Given the description of an element on the screen output the (x, y) to click on. 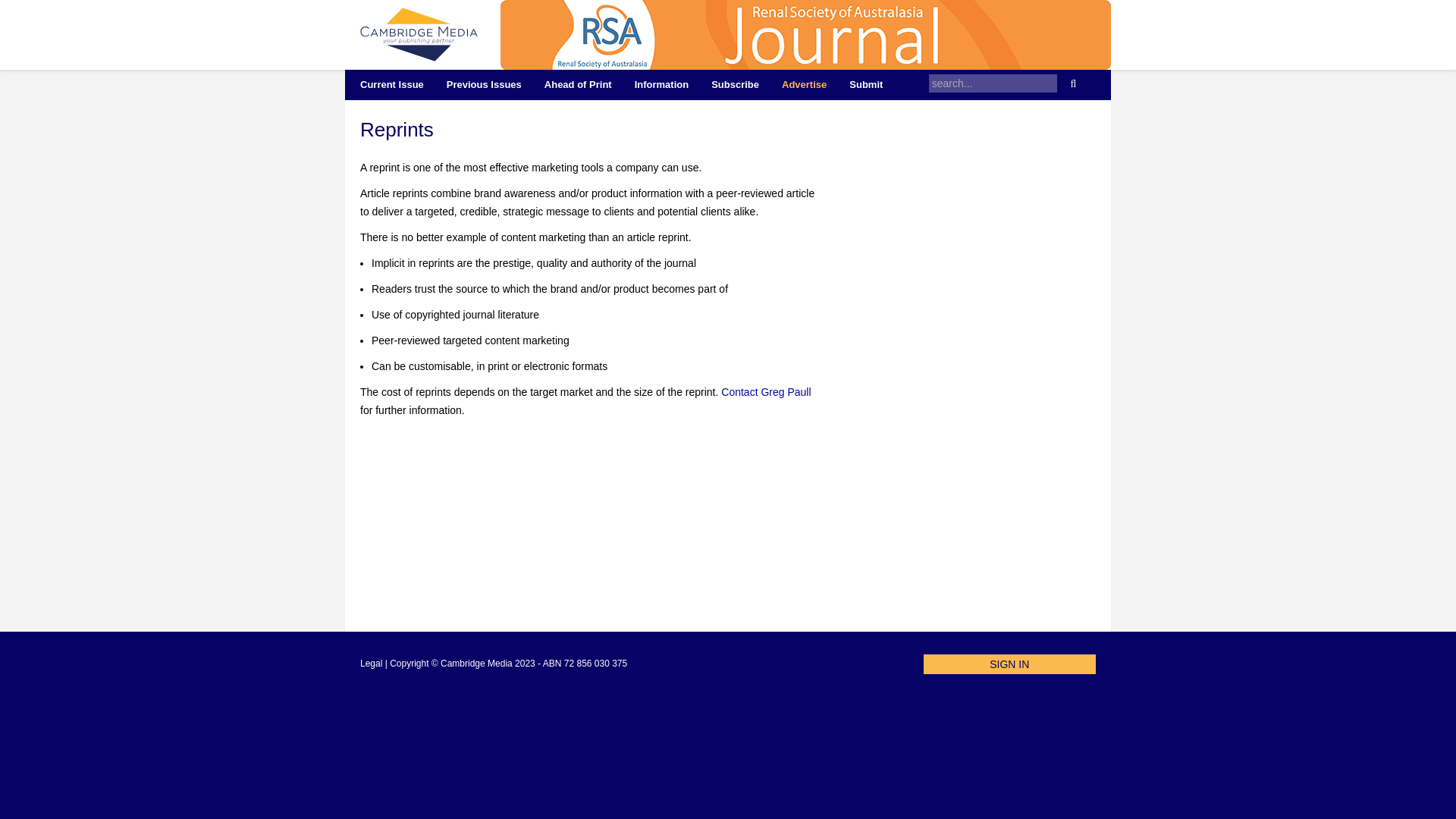
Legal (370, 663)
Advertise (804, 84)
Cambridge Media Journals (418, 34)
Subscribe (734, 84)
Ahead of Print (577, 84)
Contact Greg Paull (765, 391)
Previous Issues (483, 84)
Information (661, 84)
SIGN IN (1009, 664)
Submit (865, 84)
